Given the description of an element on the screen output the (x, y) to click on. 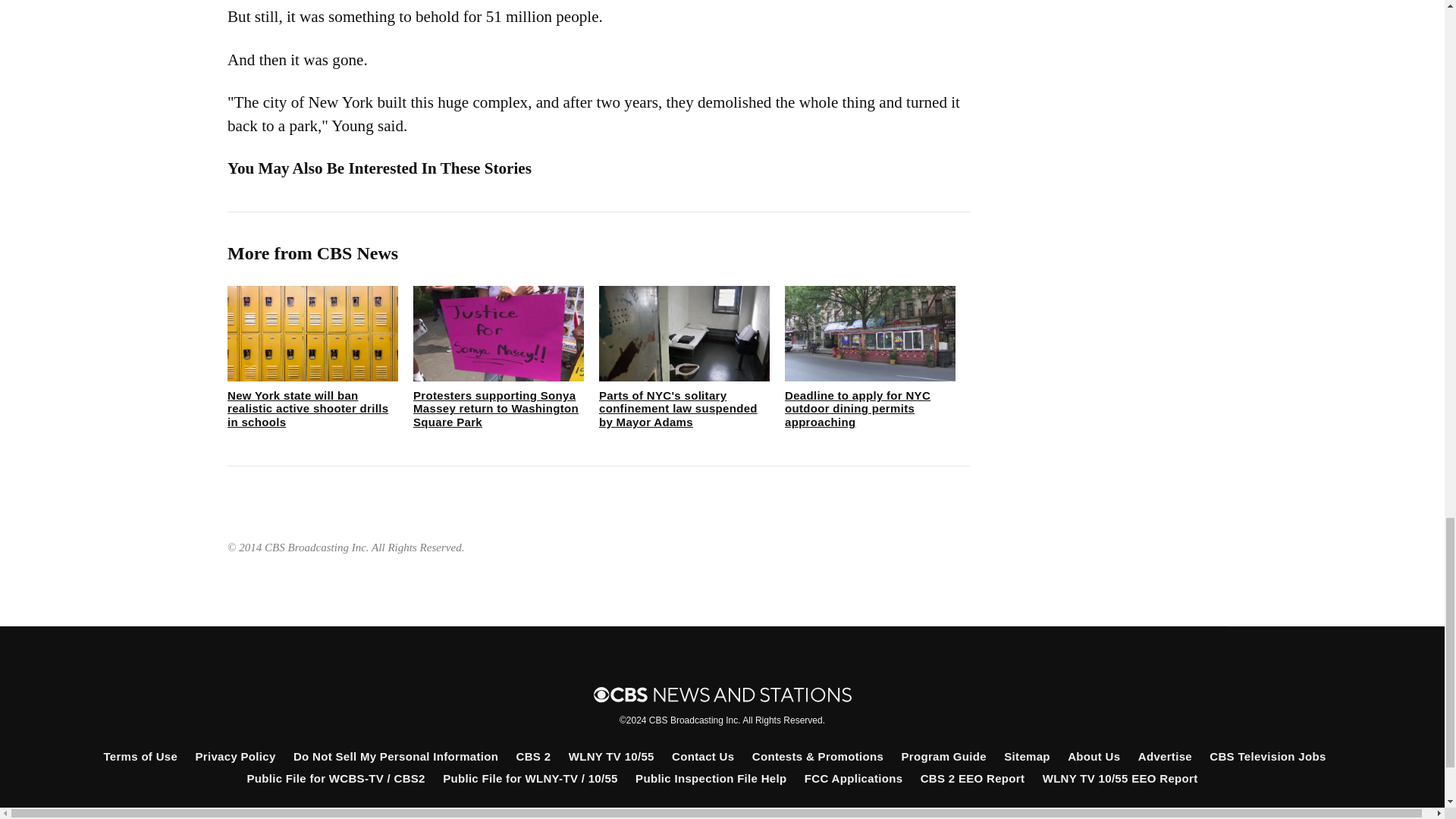
youtube (797, 814)
instagram (745, 814)
twitter (694, 814)
facebook (643, 814)
